Given the description of an element on the screen output the (x, y) to click on. 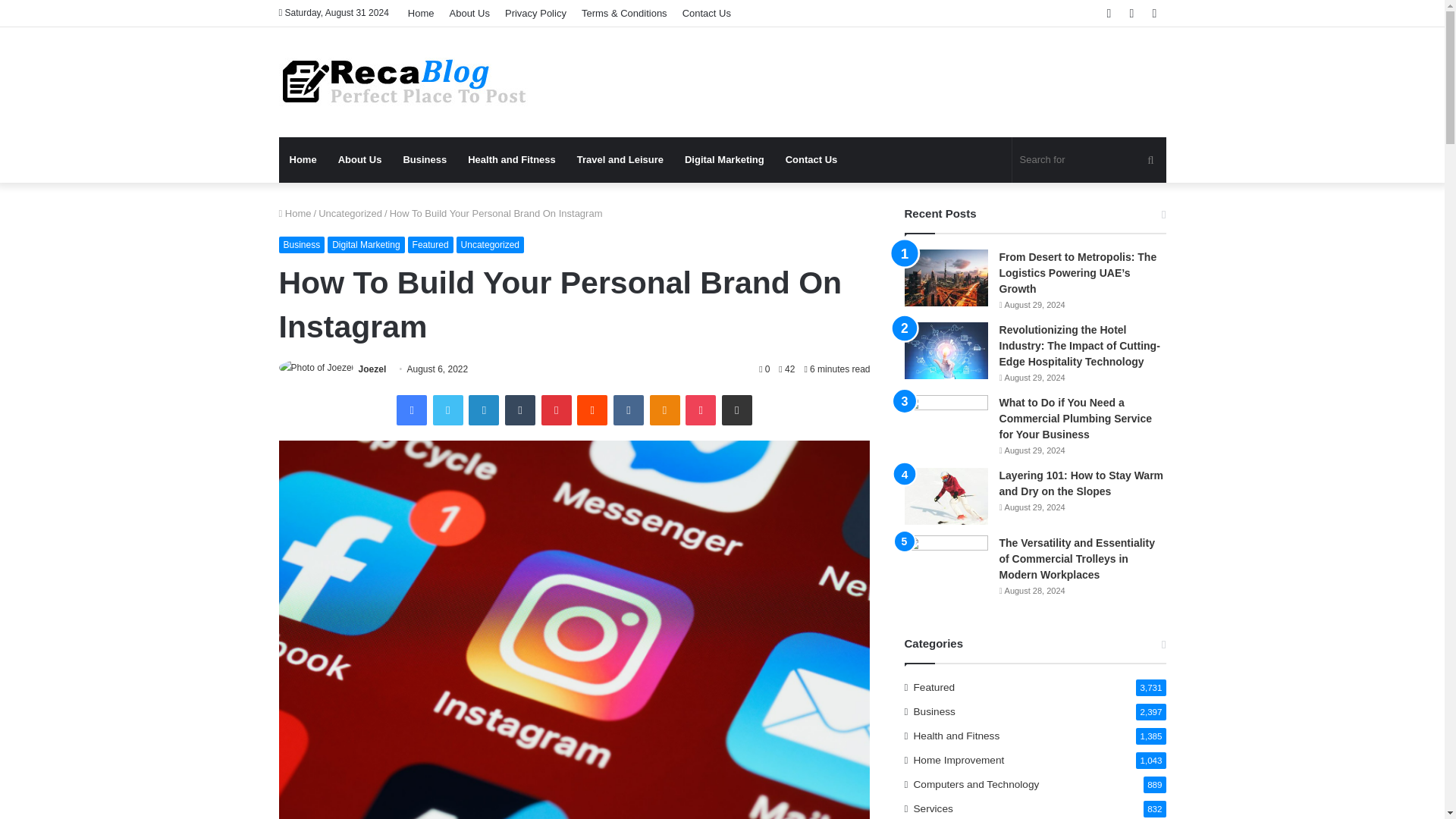
Odnoklassniki (664, 409)
Twitter (447, 409)
Reddit (591, 409)
Reddit (591, 409)
Twitter (447, 409)
Reca Blog (404, 82)
Digital Marketing (724, 159)
Contact Us (811, 159)
Digital Marketing (365, 244)
Pinterest (556, 409)
